Given the description of an element on the screen output the (x, y) to click on. 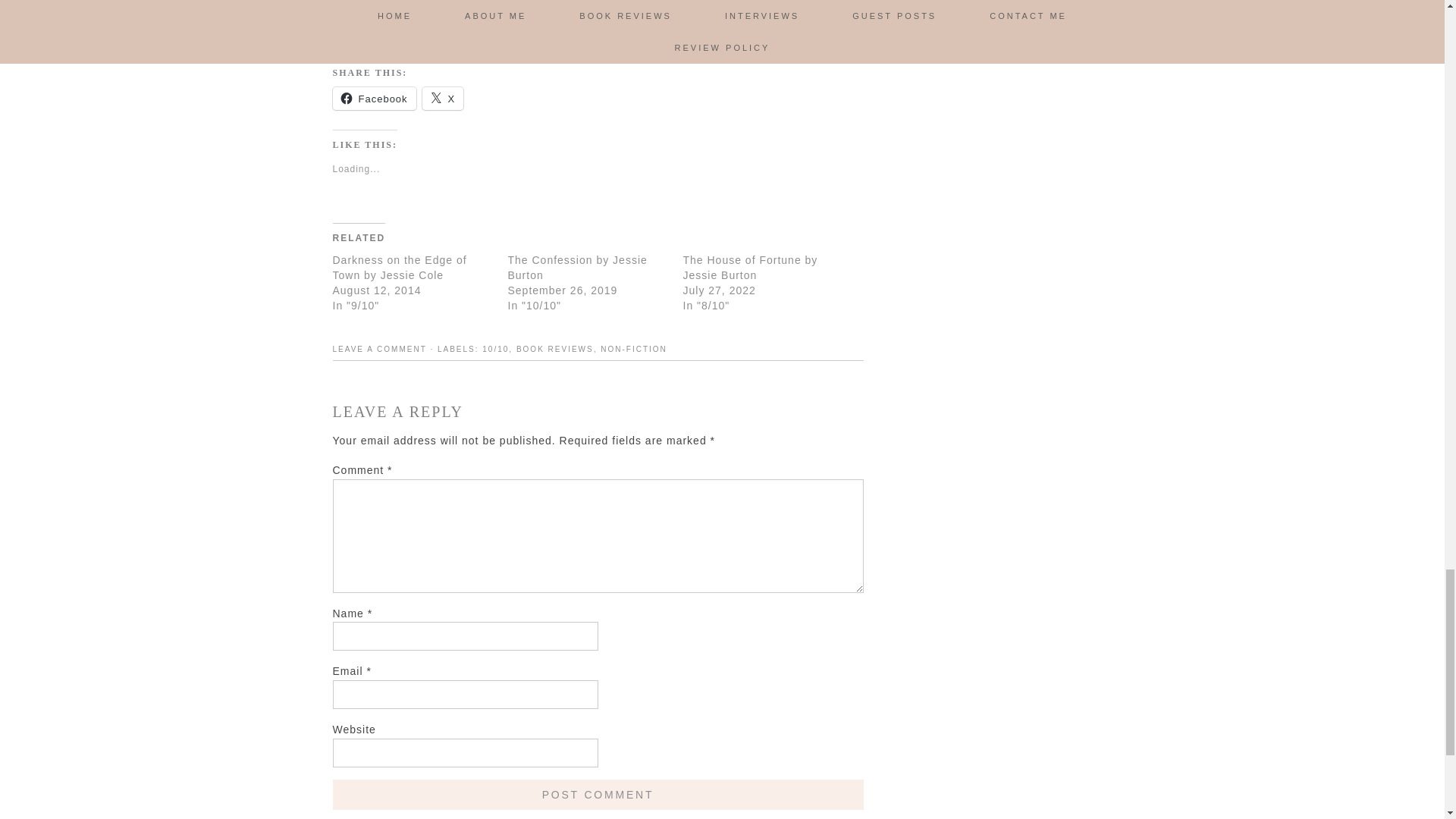
NON-FICTION (632, 348)
Post Comment (597, 794)
Facebook (372, 97)
The Confession by Jessie Burton (577, 267)
X (443, 97)
Post Comment (597, 794)
Click to share on Facebook (372, 97)
BOOK REVIEWS (555, 348)
Darkness on the Edge of Town by Jessie Cole (398, 267)
LEAVE A COMMENT (378, 348)
The House of Fortune by Jessie Burton (749, 267)
Click to share on X (443, 97)
The Confession by Jessie Burton (577, 267)
The House of Fortune by Jessie Burton (749, 267)
Darkness on the Edge of Town by Jessie Cole (398, 267)
